Given the description of an element on the screen output the (x, y) to click on. 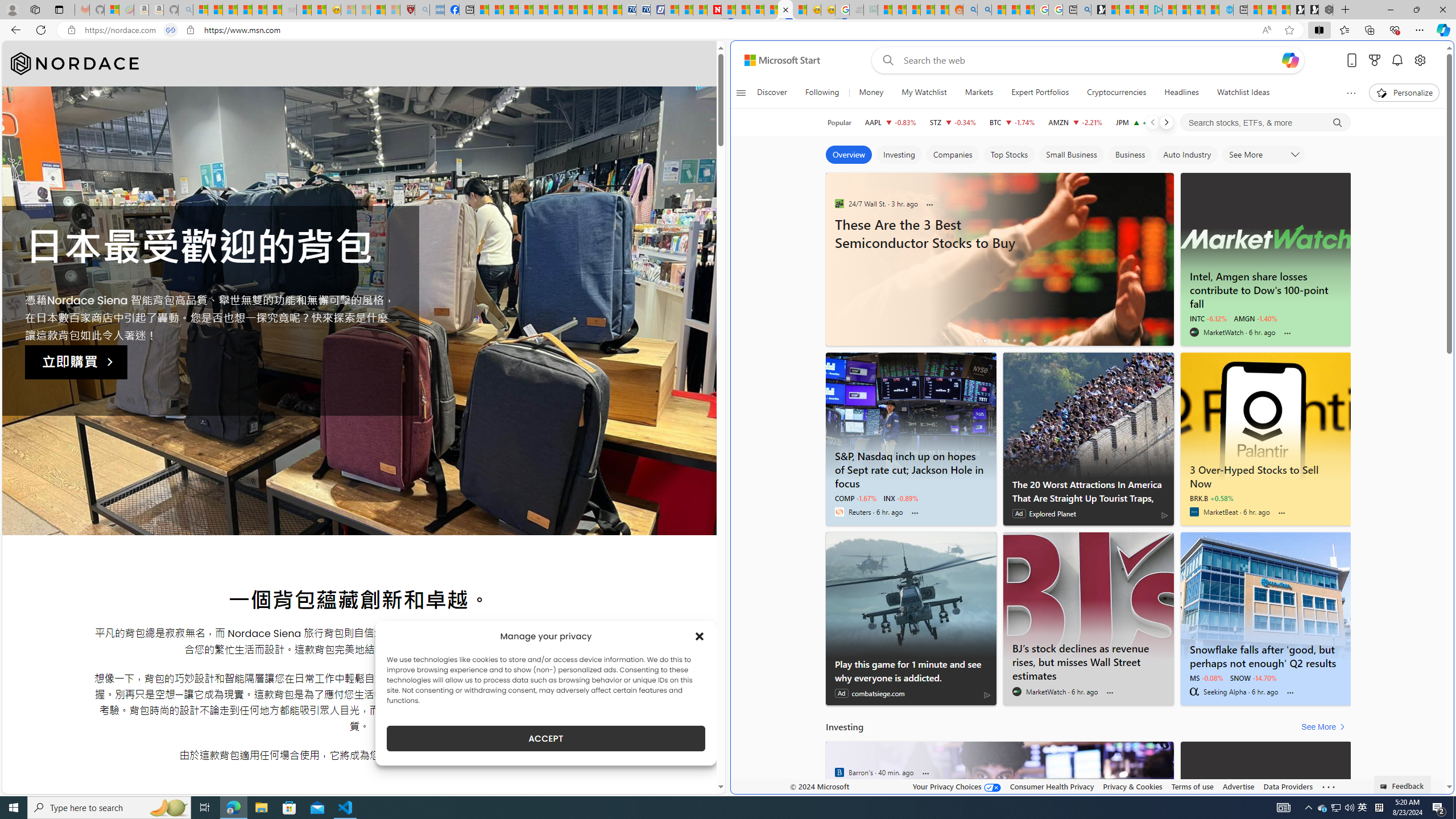
Class: feedback_link_icon-DS-EntryPoint1-1 (1384, 786)
3 Over-Hyped Stocks to Sell Now - MarketBeat (1265, 474)
COMP -1.67% (855, 497)
Search stocks, ETFs, & more (1265, 122)
My Watchlist (924, 92)
Small Business (1071, 154)
